Given the description of an element on the screen output the (x, y) to click on. 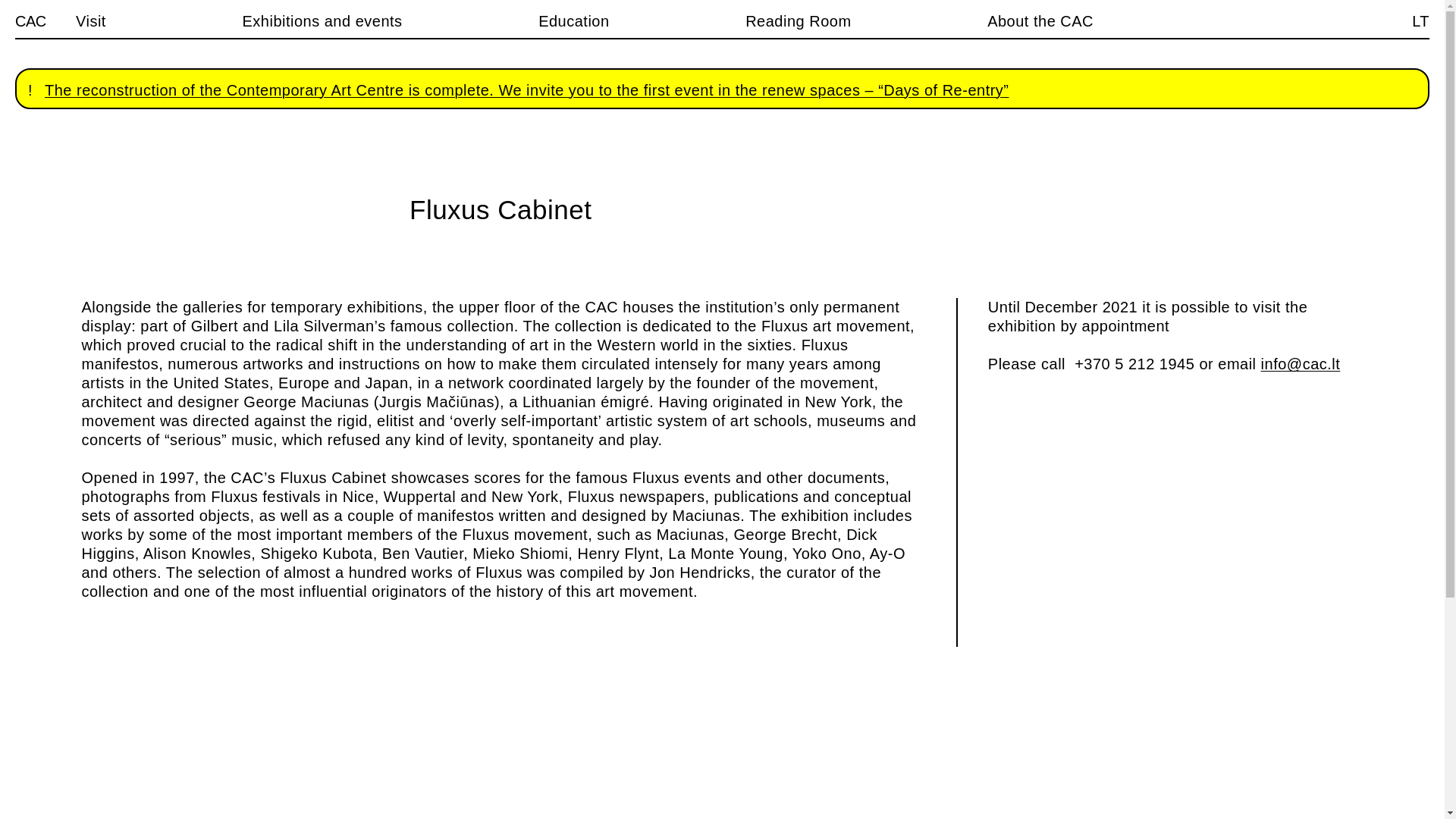
About the CAC (1040, 21)
Visit (90, 21)
Reading Room (797, 21)
CAC (30, 21)
Search (21, 7)
Education (573, 21)
LT (1420, 21)
Exhibitions and events (321, 21)
